Given the description of an element on the screen output the (x, y) to click on. 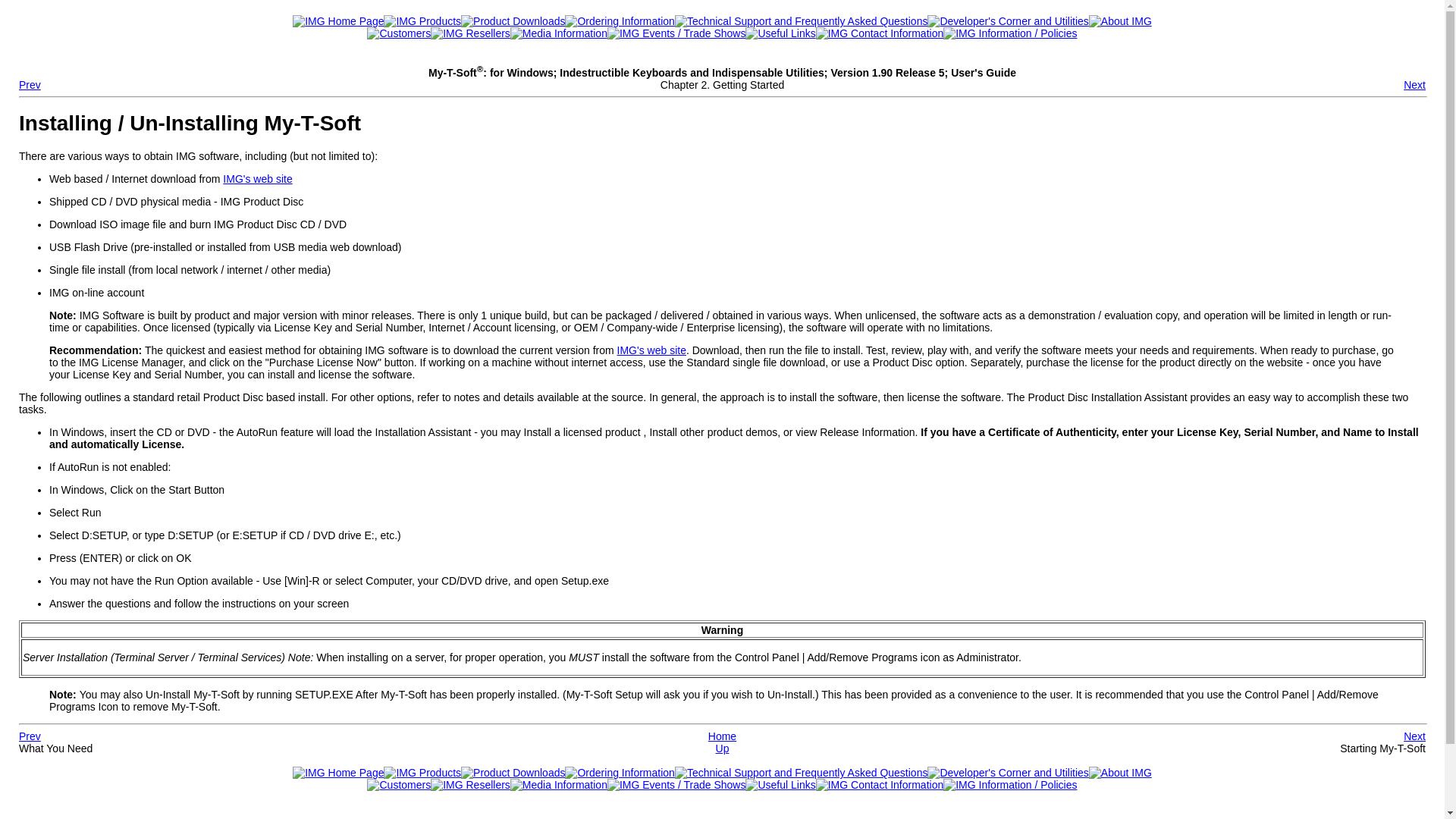
Next (1414, 84)
Up (722, 748)
IMG's web site (257, 178)
IMG's web site (651, 349)
Home (721, 736)
Prev (29, 736)
Prev (29, 84)
Next (1414, 736)
